Given the description of an element on the screen output the (x, y) to click on. 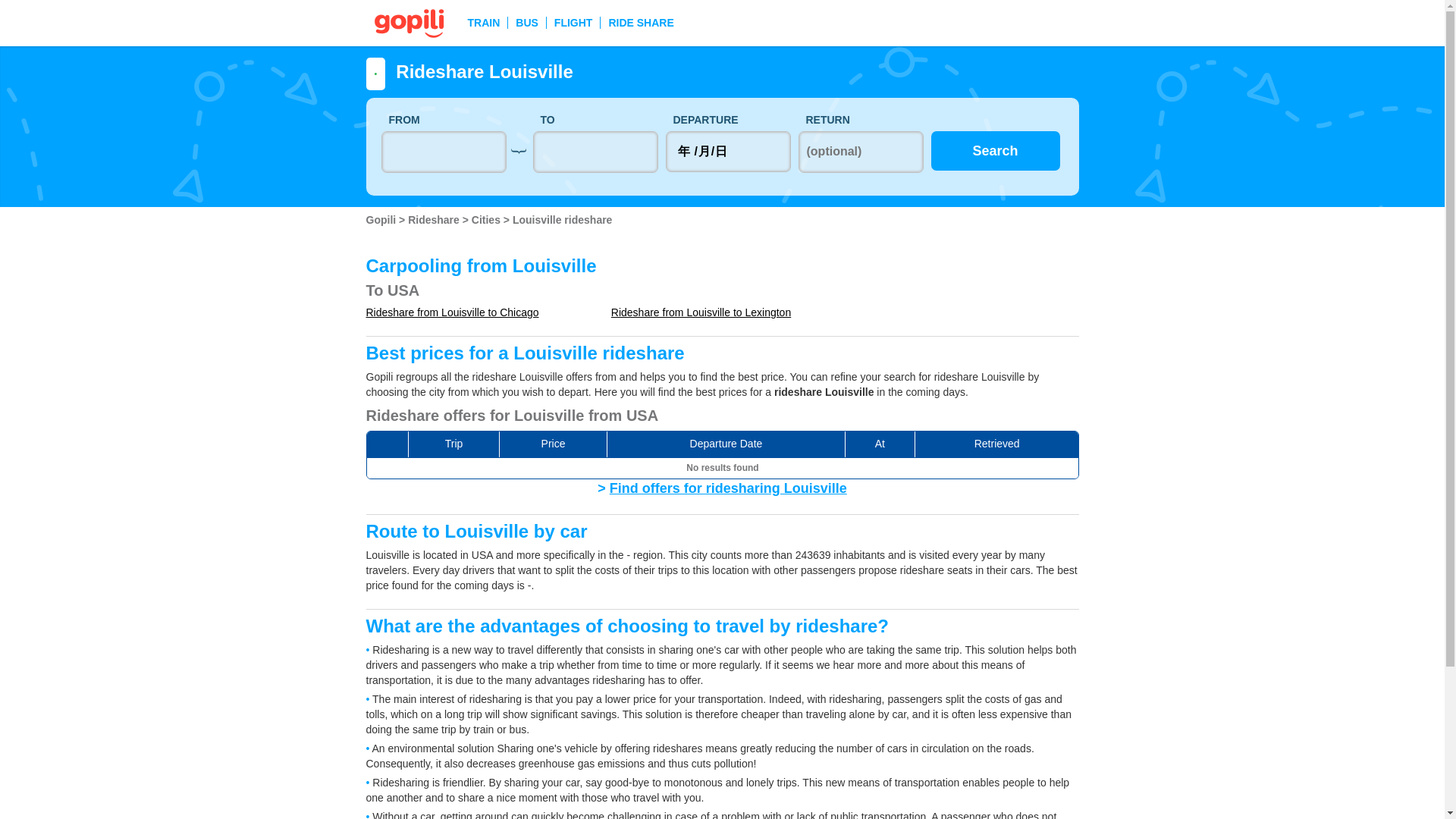
Rideshare from Louisville to Lexington (700, 312)
Search (995, 150)
Louisville rideshare (562, 219)
Rideshare from Louisville to Chicago (451, 312)
Rideshare (435, 219)
Cities (487, 219)
Gopili (381, 219)
